Given the description of an element on the screen output the (x, y) to click on. 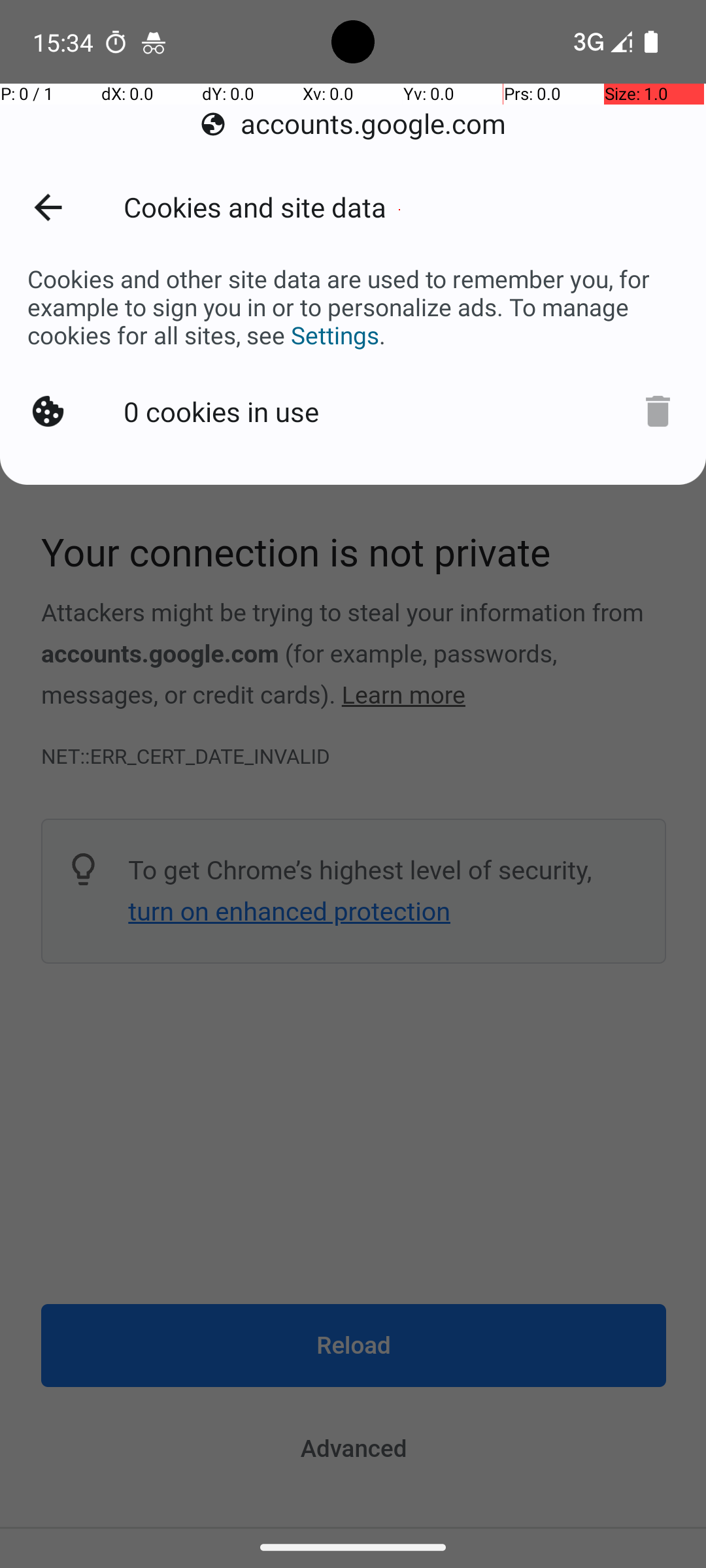
accounts.google.com Element type: android.widget.TextView (352, 124)
Cookies and other site data are used to remember you, for example to sign you in or to personalize ads. To manage cookies for all sites, see Settings. Element type: android.widget.TextView (352, 306)
0 cookies in use Element type: android.widget.TextView (223, 408)
Delete cookies? Element type: android.widget.ImageView (650, 408)
